Given the description of an element on the screen output the (x, y) to click on. 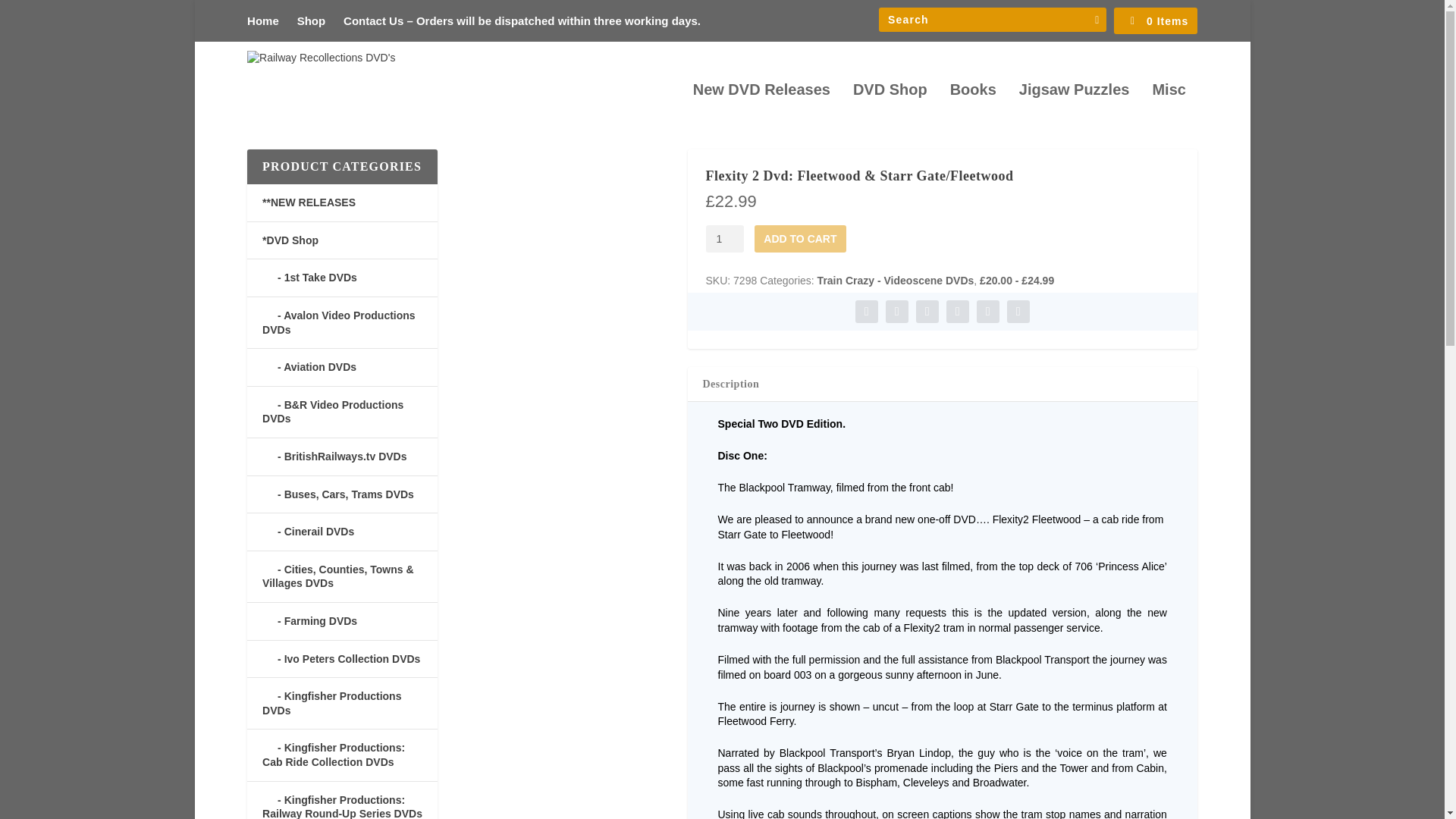
DVD Shop (890, 108)
1st Take DVDs (309, 277)
1 (724, 238)
Train Crazy - Videoscene DVDs (895, 280)
Aviation DVDs (309, 367)
Avalon Video Productions DVDs (338, 322)
BritishRailways.tv DVDs (334, 456)
New DVD Releases (761, 108)
ADD TO CART (799, 238)
Books (972, 108)
